Given the description of an element on the screen output the (x, y) to click on. 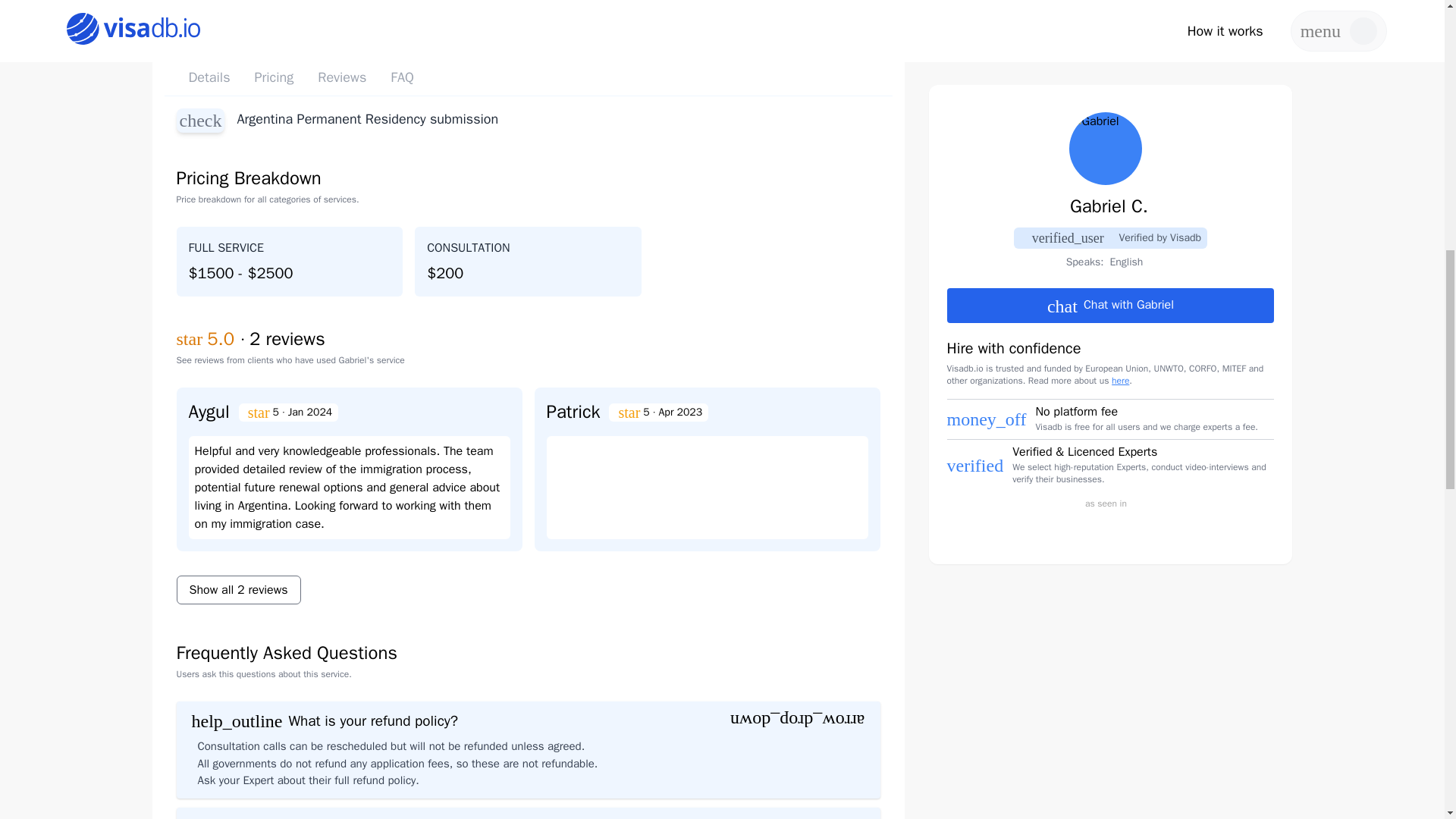
Show all 2 reviews (237, 588)
